Given the description of an element on the screen output the (x, y) to click on. 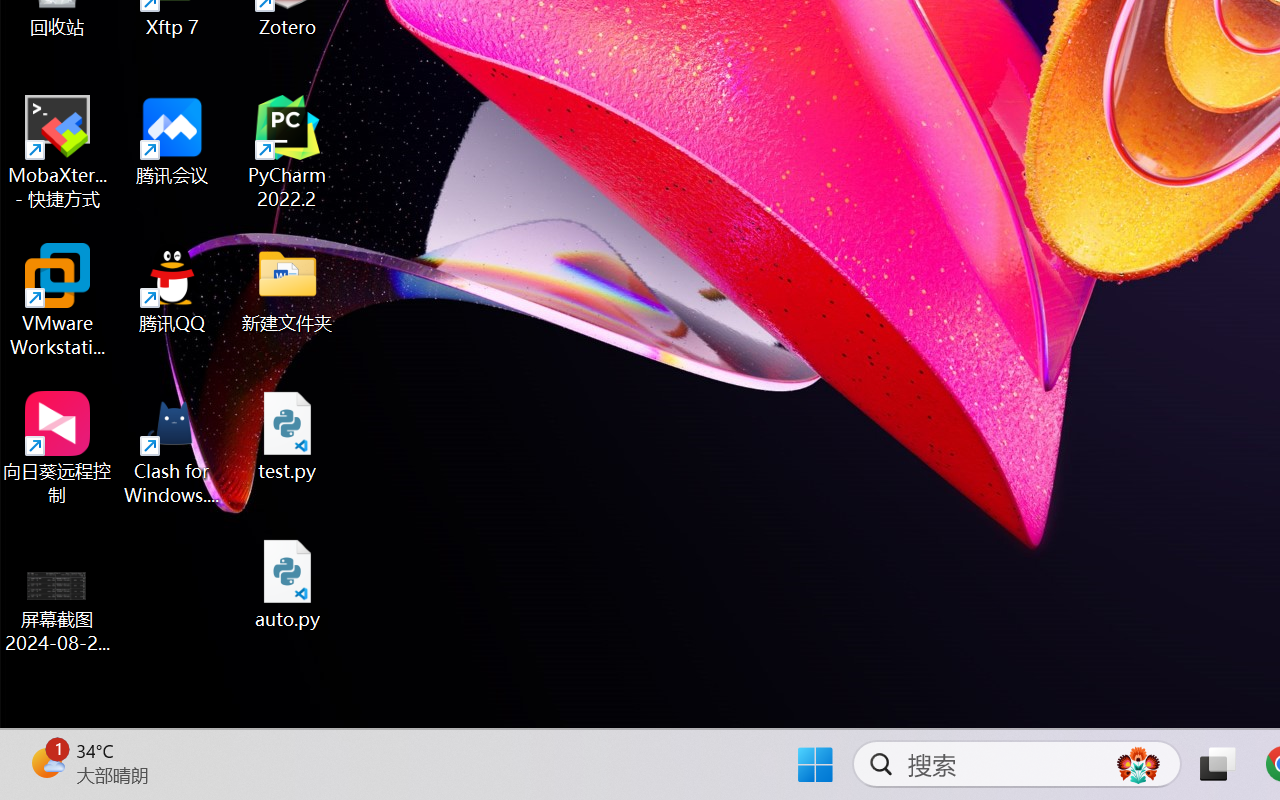
test.py (287, 436)
auto.py (287, 584)
PyCharm 2022.2 (287, 152)
VMware Workstation Pro (57, 300)
